Given the description of an element on the screen output the (x, y) to click on. 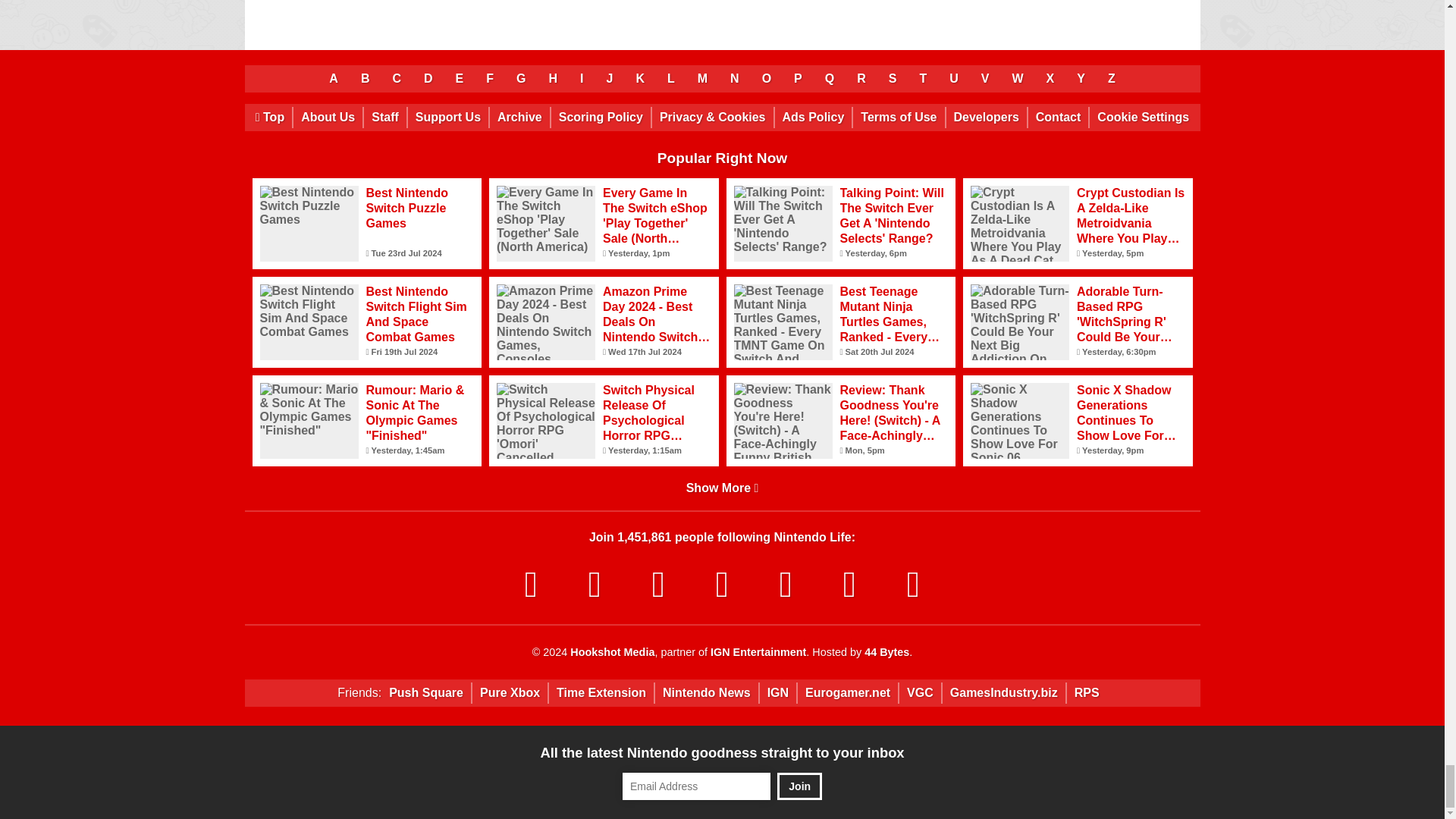
Join (799, 786)
